Given the description of an element on the screen output the (x, y) to click on. 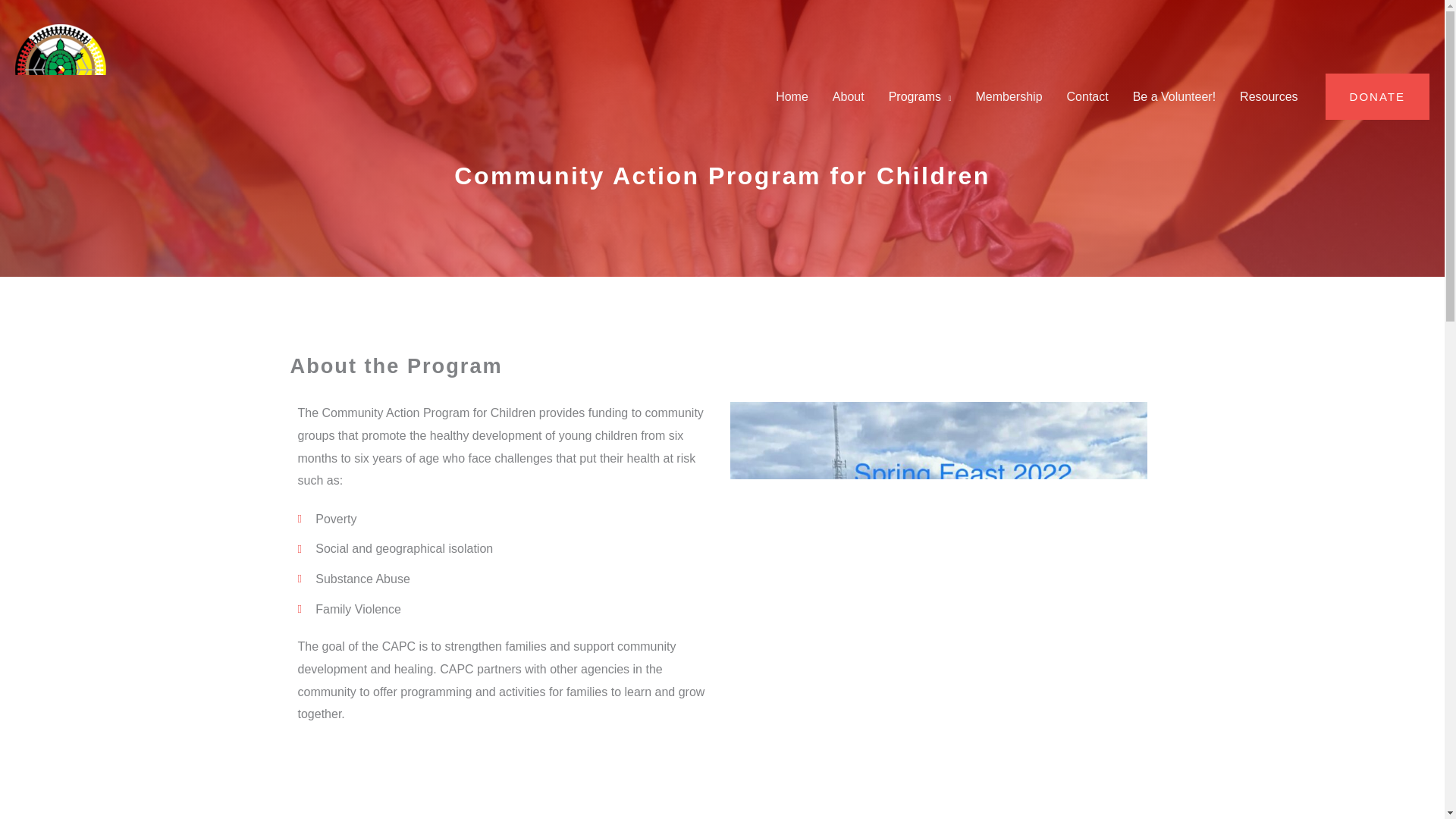
Home (791, 95)
Resources (1267, 95)
Contact (1087, 95)
About (848, 95)
Be a Volunteer! (1174, 95)
Programs (919, 95)
Membership (1008, 95)
DONATE (1376, 96)
